Given the description of an element on the screen output the (x, y) to click on. 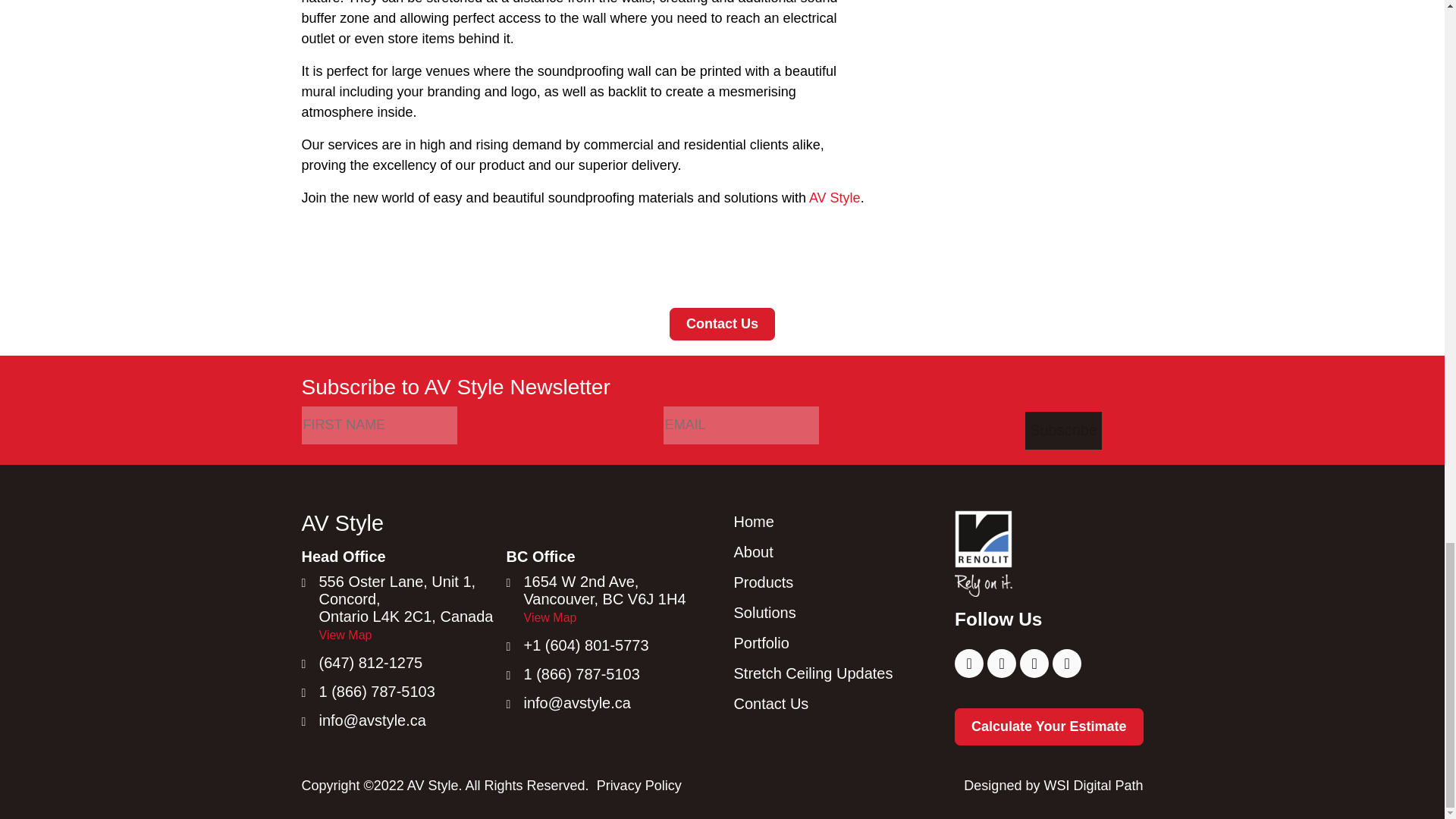
Subscribe (1063, 430)
